Given the description of an element on the screen output the (x, y) to click on. 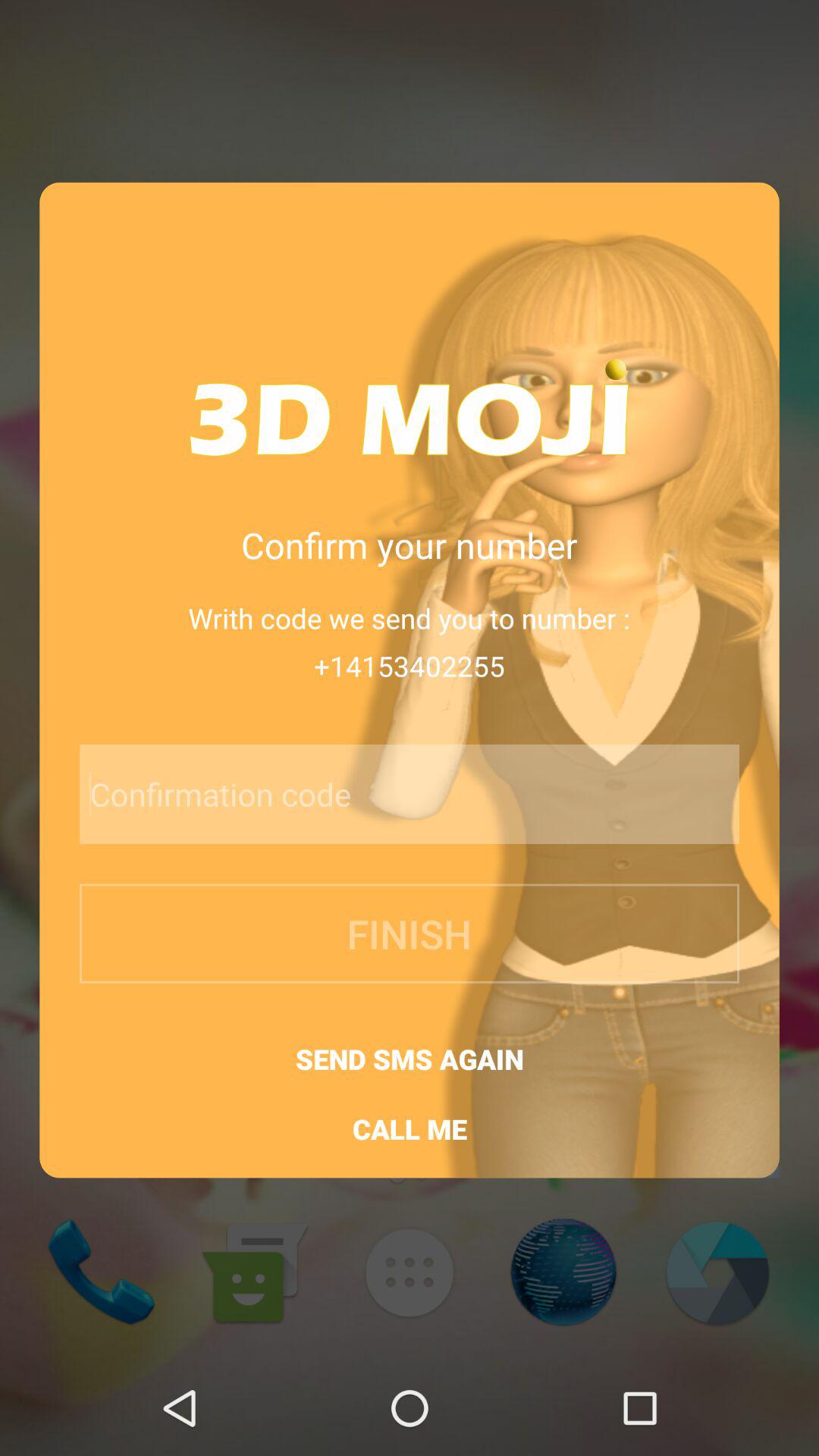
select send sms again icon (409, 1059)
